Given the description of an element on the screen output the (x, y) to click on. 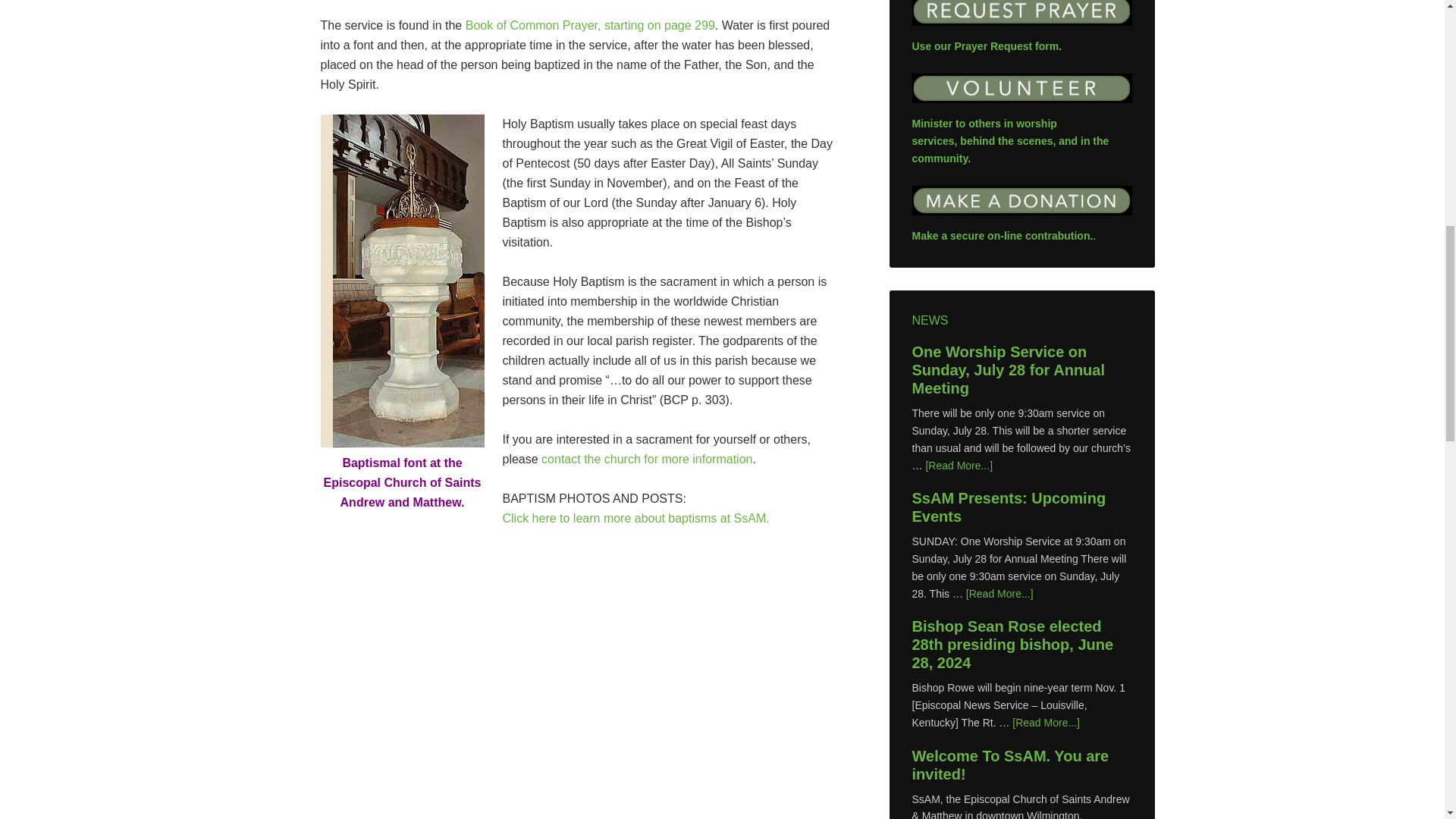
Contact Us (646, 458)
